Given the description of an element on the screen output the (x, y) to click on. 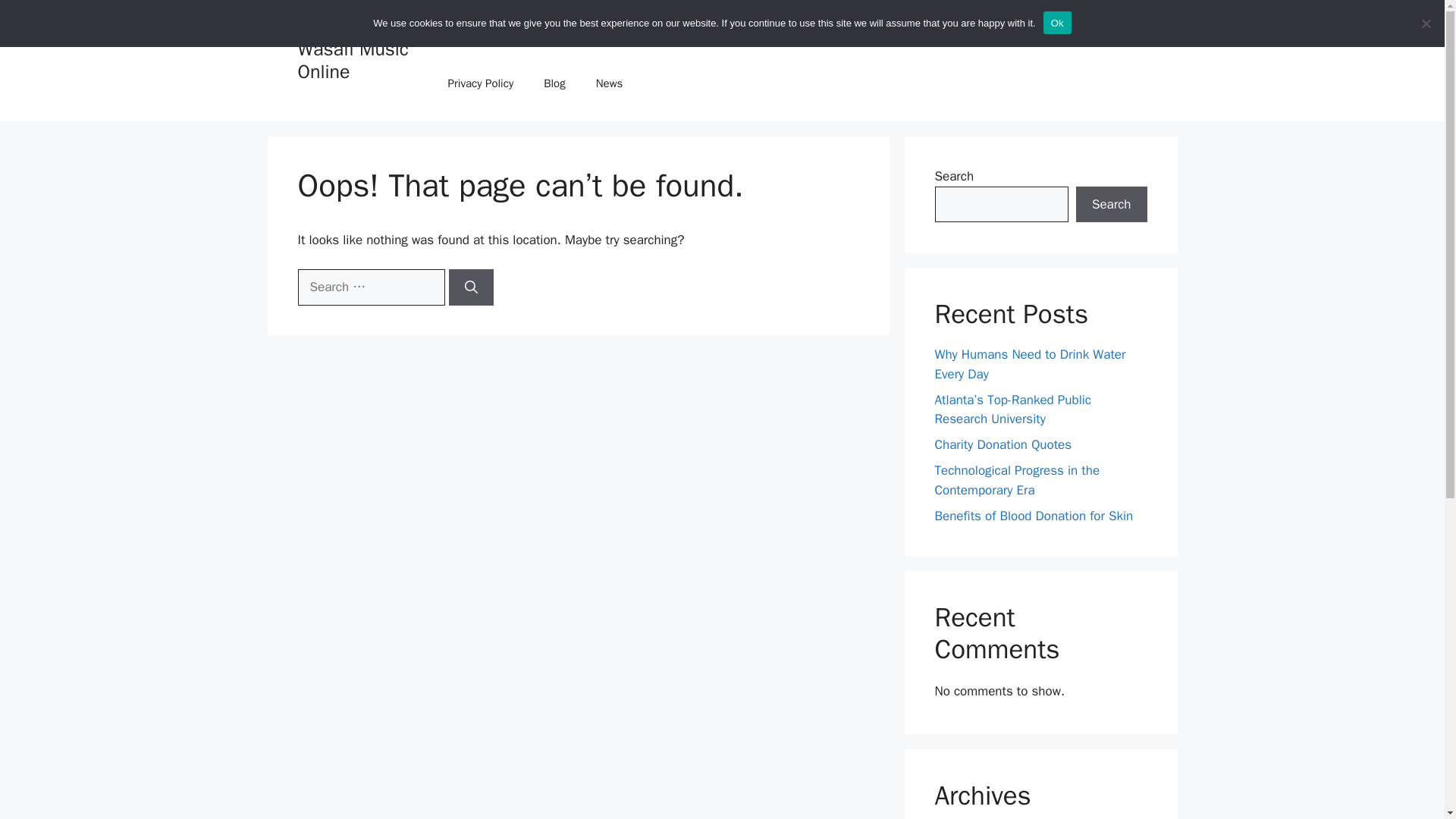
No (1425, 23)
Contact Us (1002, 37)
Ok (1057, 22)
Cookie Policy (778, 37)
Home (462, 37)
Benefits of Blood Donation for Skin (1033, 515)
About Us (1082, 37)
Privacy Policy (480, 83)
Technology (613, 37)
Blog (553, 83)
